Given the description of an element on the screen output the (x, y) to click on. 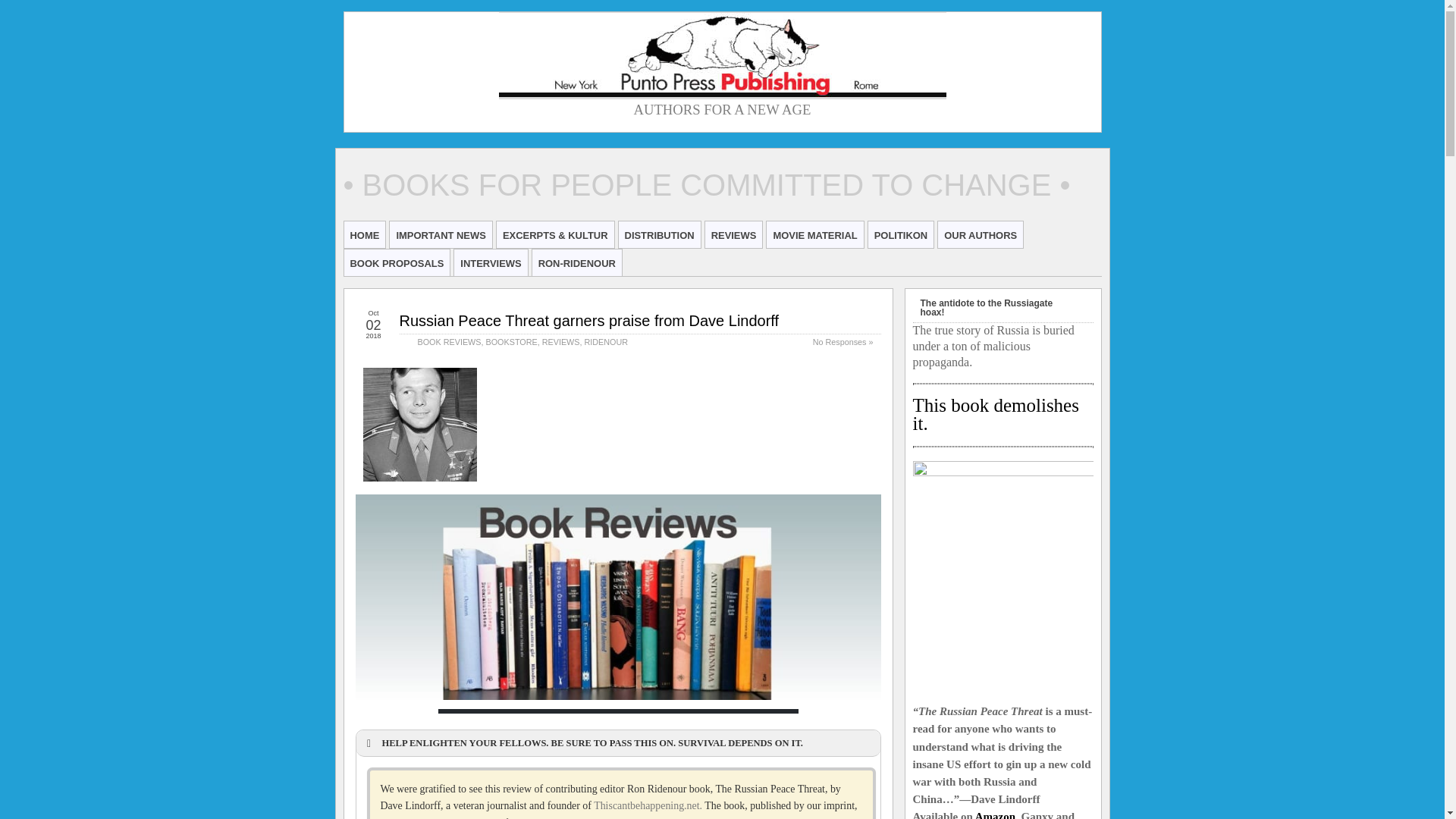
BOOK PROPOSALS (396, 262)
HOME (364, 234)
INTERVIEWS (490, 262)
REVIEWS (733, 234)
Russian Peace Threat garners praise from Dave Lindorff (588, 320)
Thiscantbehappening.net. (649, 805)
POLITIKON (900, 234)
RON-RIDENOUR (576, 262)
Russian Peace Threat garners praise from Dave Lindorff (588, 320)
OUR AUTHORS (980, 234)
BOOK REVIEWS (448, 341)
IMPORTANT NEWS (441, 234)
DISTRIBUTION (659, 234)
MOVIE MATERIAL (815, 234)
RIDENOUR (605, 341)
